Given the description of an element on the screen output the (x, y) to click on. 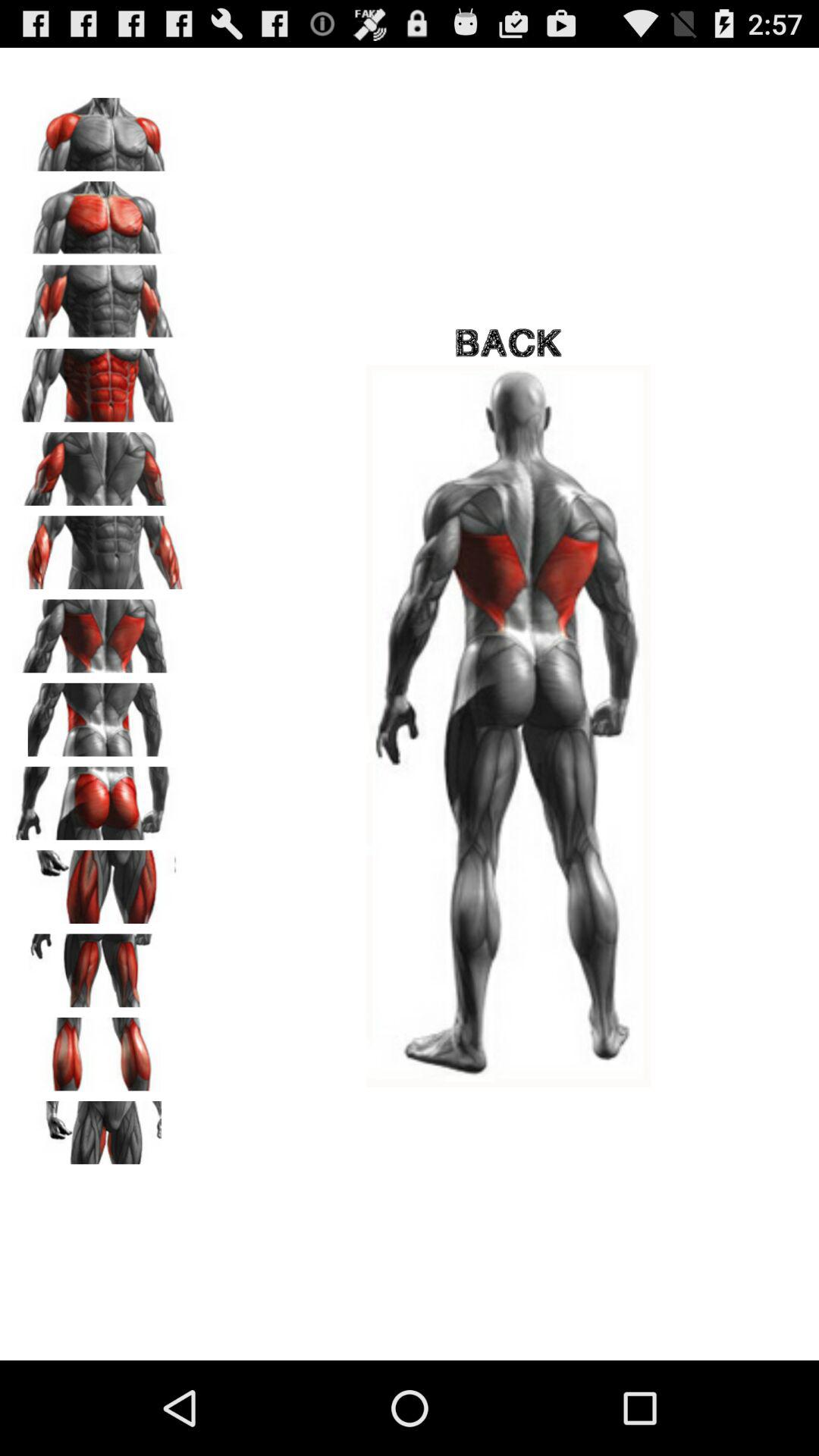
select body part (99, 380)
